Given the description of an element on the screen output the (x, y) to click on. 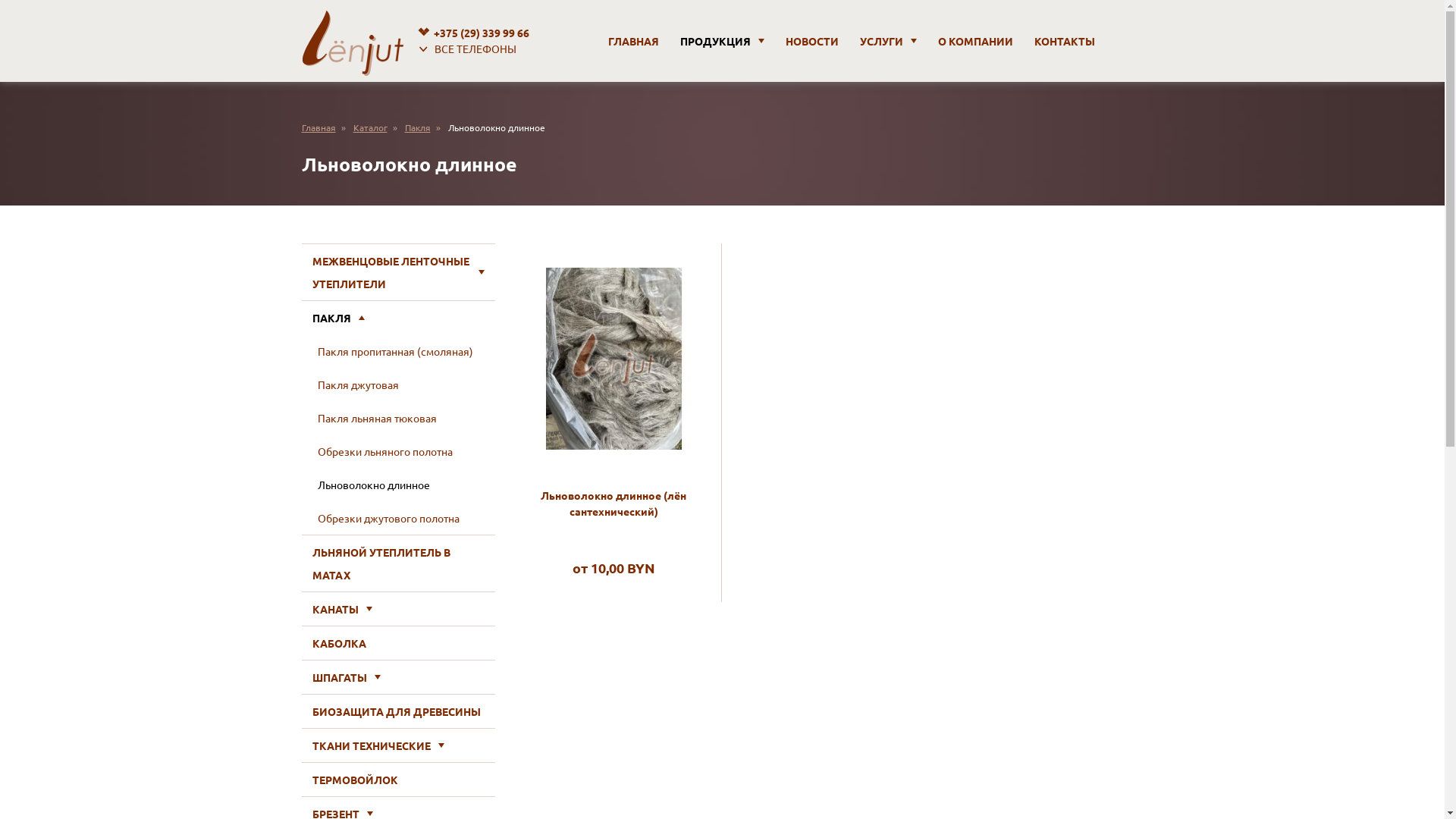
+375 (29) 339 99 66 Element type: text (471, 32)
